Given the description of an element on the screen output the (x, y) to click on. 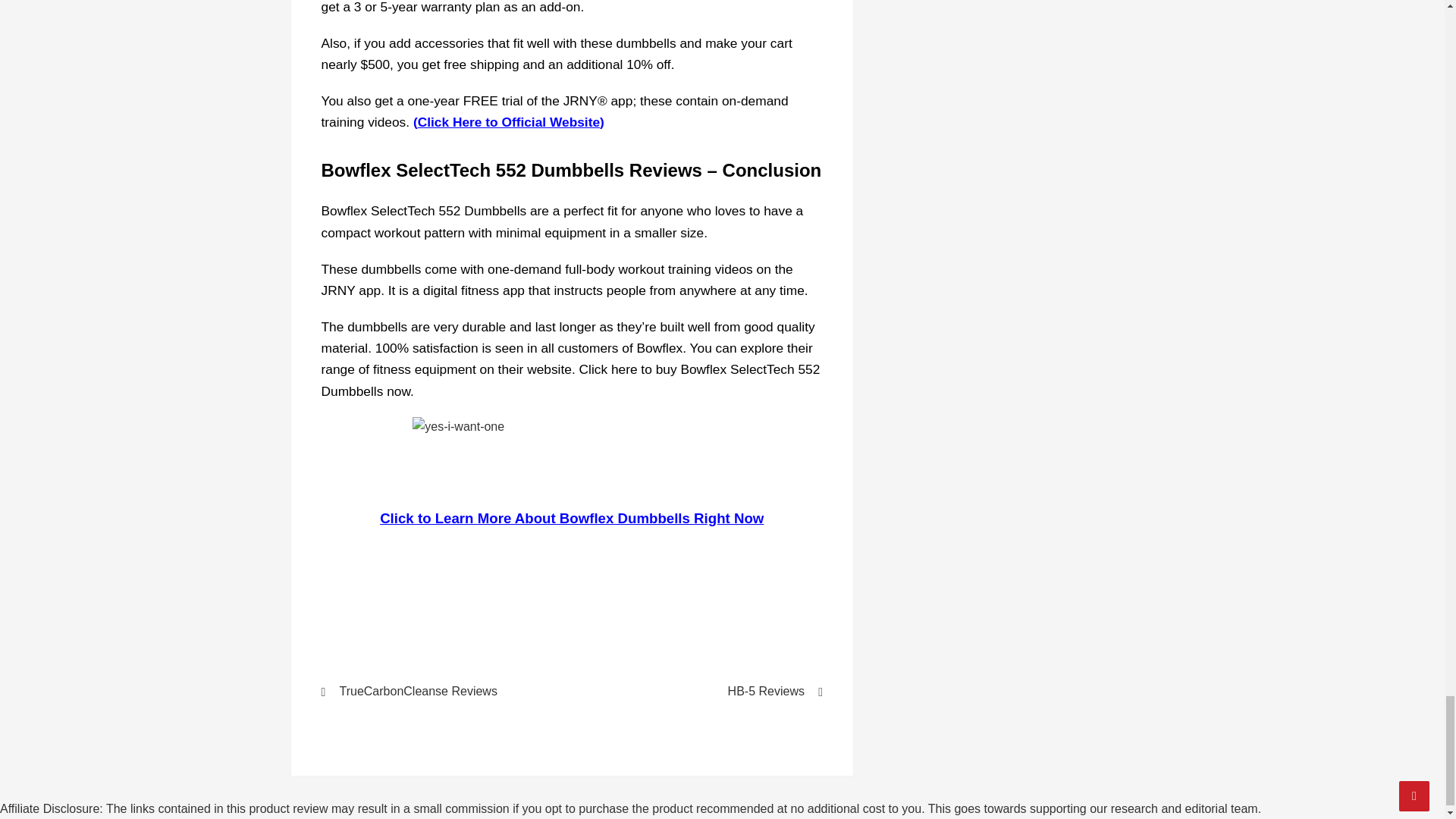
Bowflex Dumbbells Reviews 8 (571, 454)
full-body workout (611, 268)
HB-5 Reviews (707, 691)
TrueCarbonCleanse Reviews (436, 691)
